Given the description of an element on the screen output the (x, y) to click on. 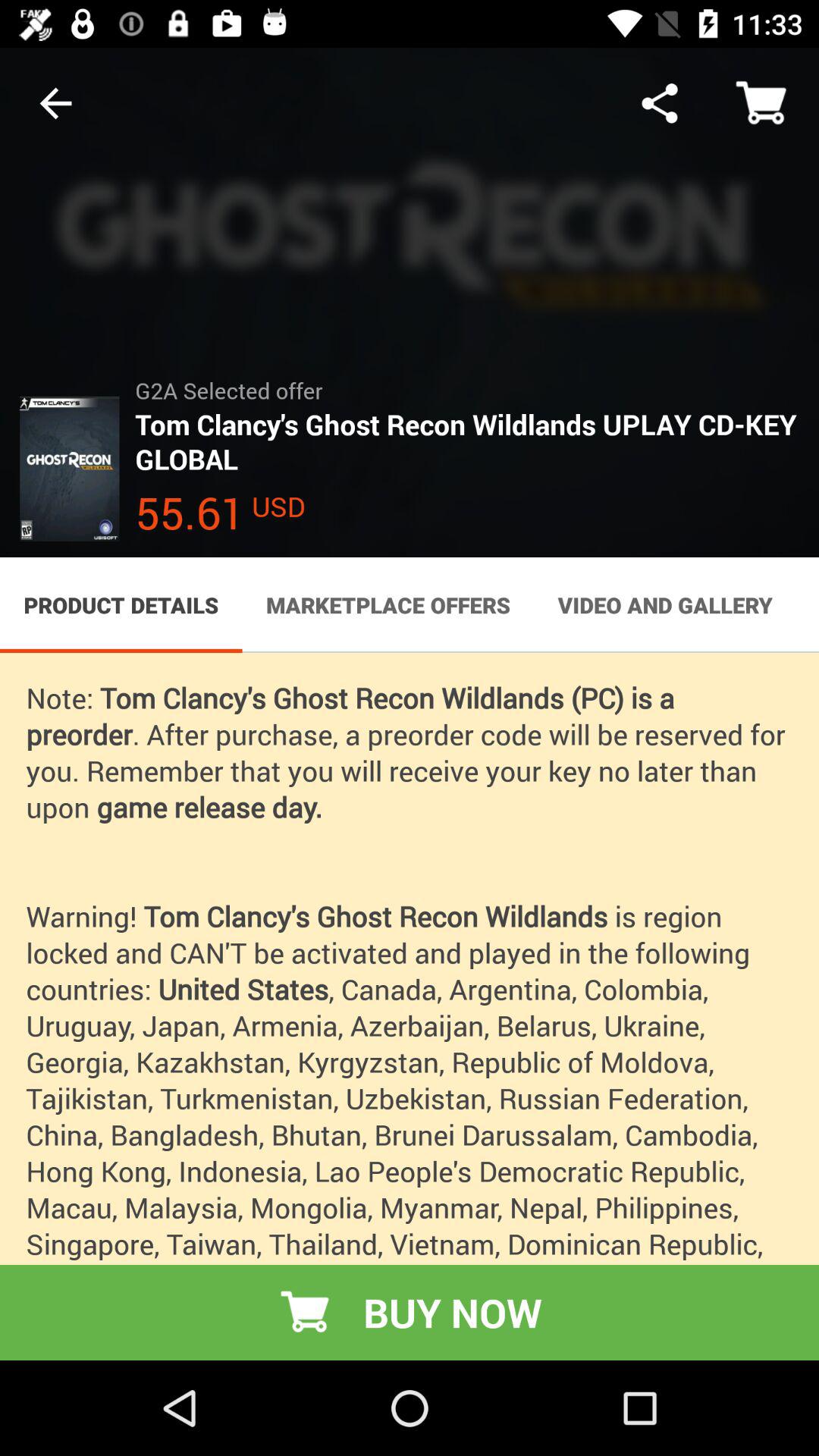
select icon above the g2a selected offer (659, 103)
